Given the description of an element on the screen output the (x, y) to click on. 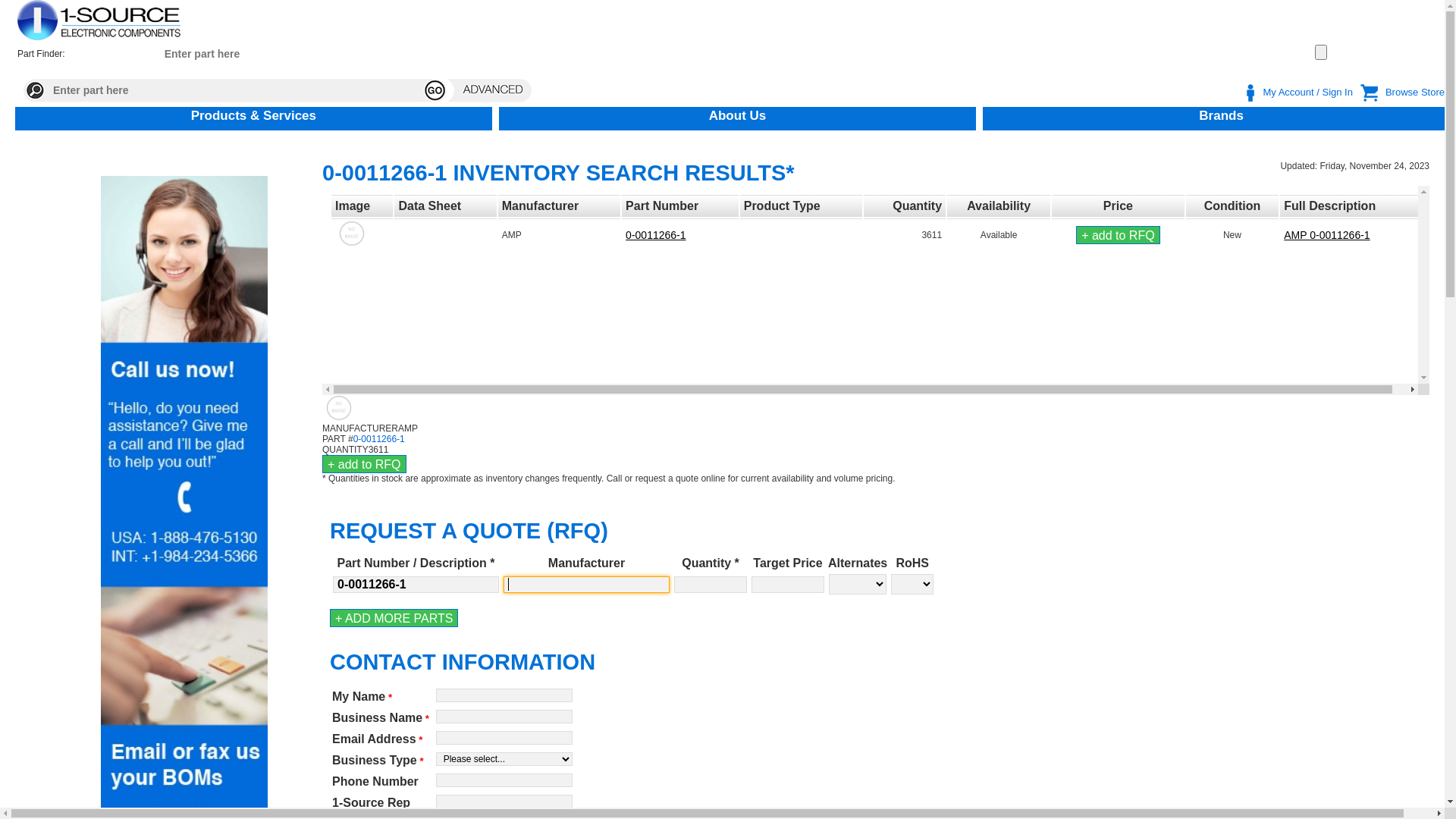
0-0011266-1 Element type: text (378, 438)
No Image Element type: hover (352, 233)
+ add to RFQ Element type: text (364, 464)
My Account / Sign In Element type: text (1307, 91)
0-0011266-1 Element type: text (655, 235)
Products & Services Element type: text (253, 115)
Browse Store Element type: text (1414, 91)
About Us Element type: text (737, 115)
No Image Element type: hover (339, 407)
 1-Source Electronic Components Web Store  Element type: hover (98, 20)
+ ADD MORE PARTS Element type: text (393, 617)
AMP 0-0011266-1 Element type: text (1326, 235)
+ add to RFQ Element type: text (1118, 234)
